Given the description of an element on the screen output the (x, y) to click on. 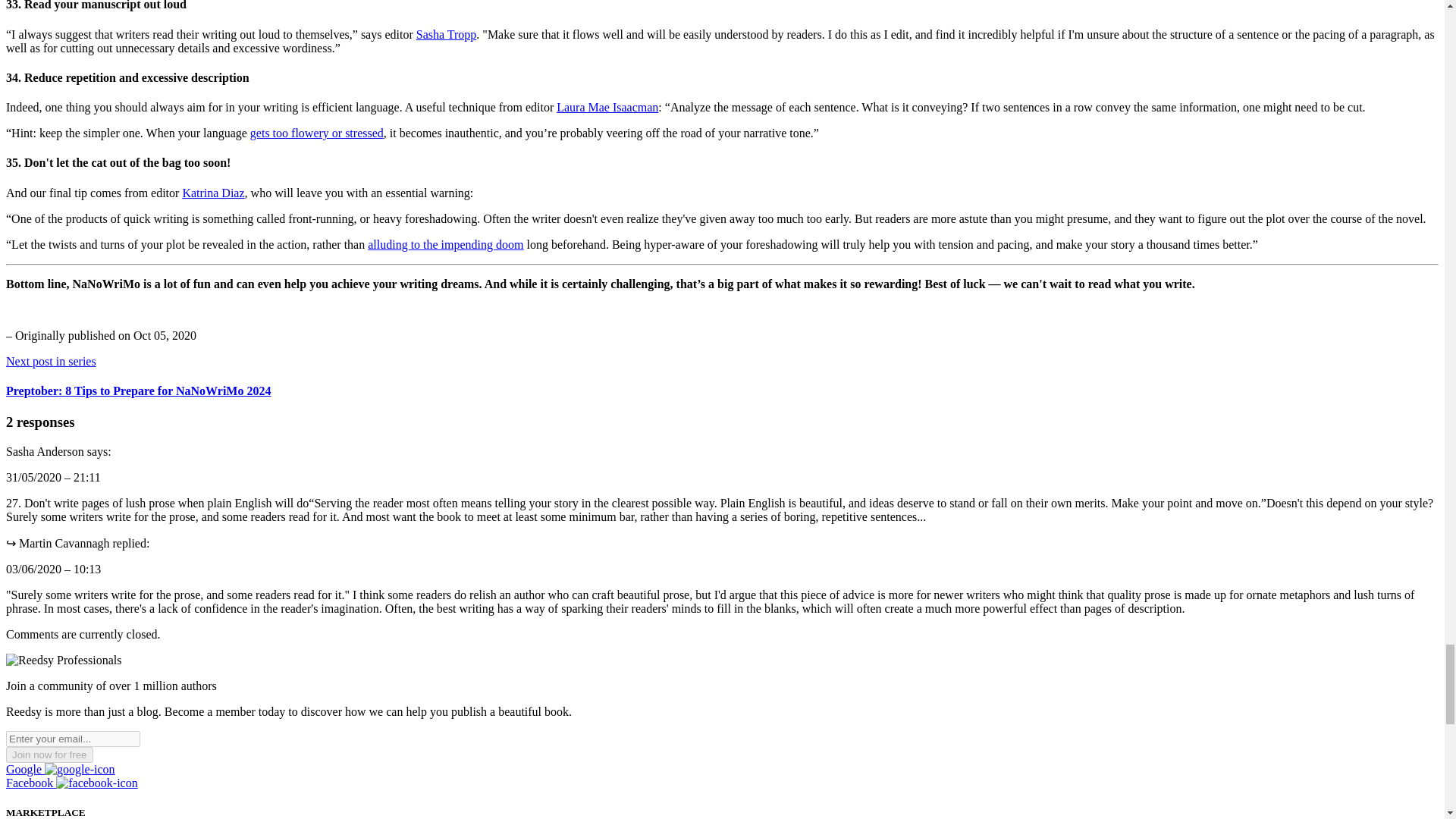
Sign in with Google (60, 768)
Join now for free (49, 754)
Sign in with Facebook (71, 782)
